Given the description of an element on the screen output the (x, y) to click on. 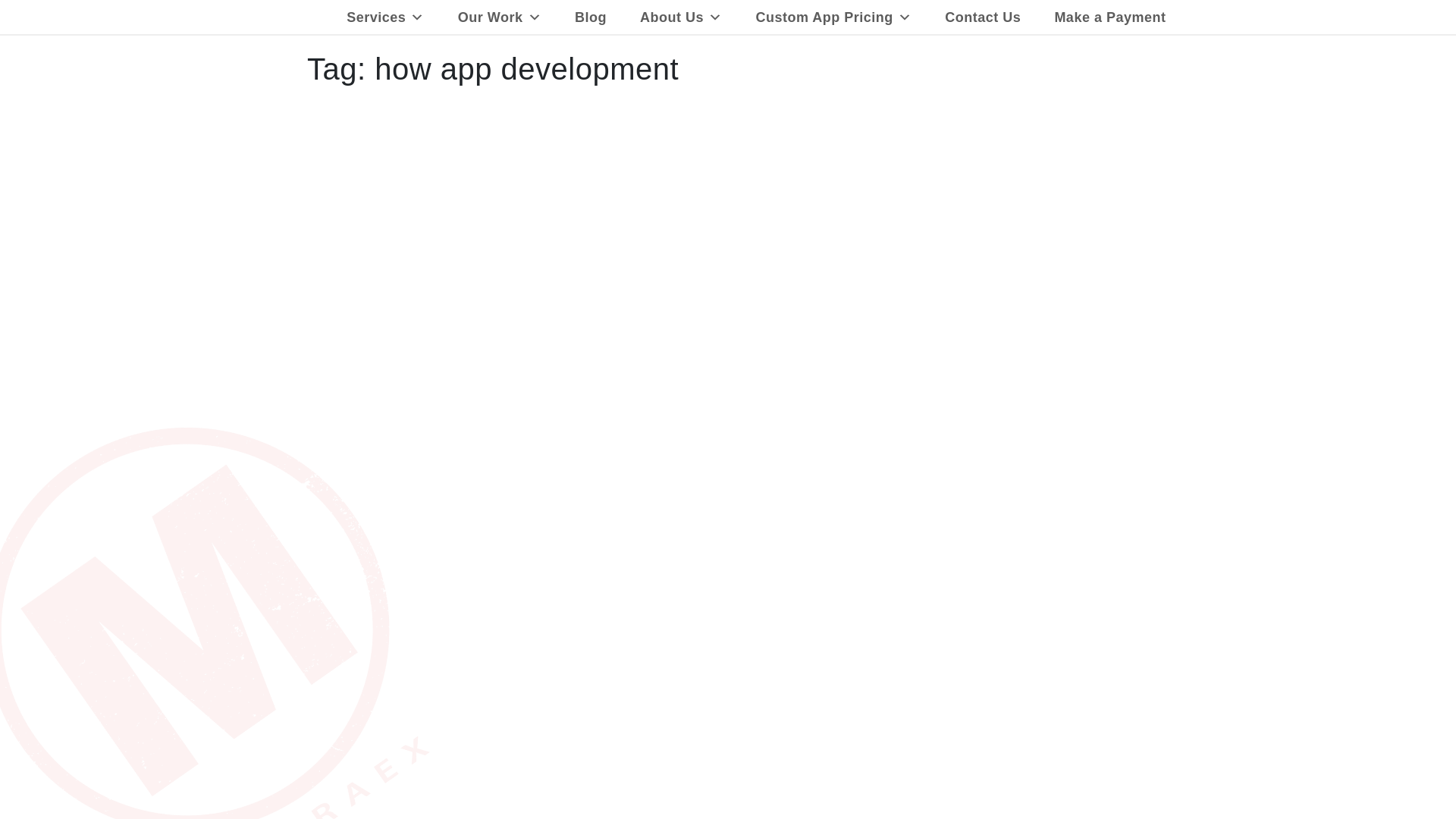
About Us (680, 16)
Make a Payment (1109, 16)
Services (385, 16)
Custom App Pricing (834, 16)
Blog (590, 16)
Contact Us (982, 16)
Our Work (498, 16)
